Given the description of an element on the screen output the (x, y) to click on. 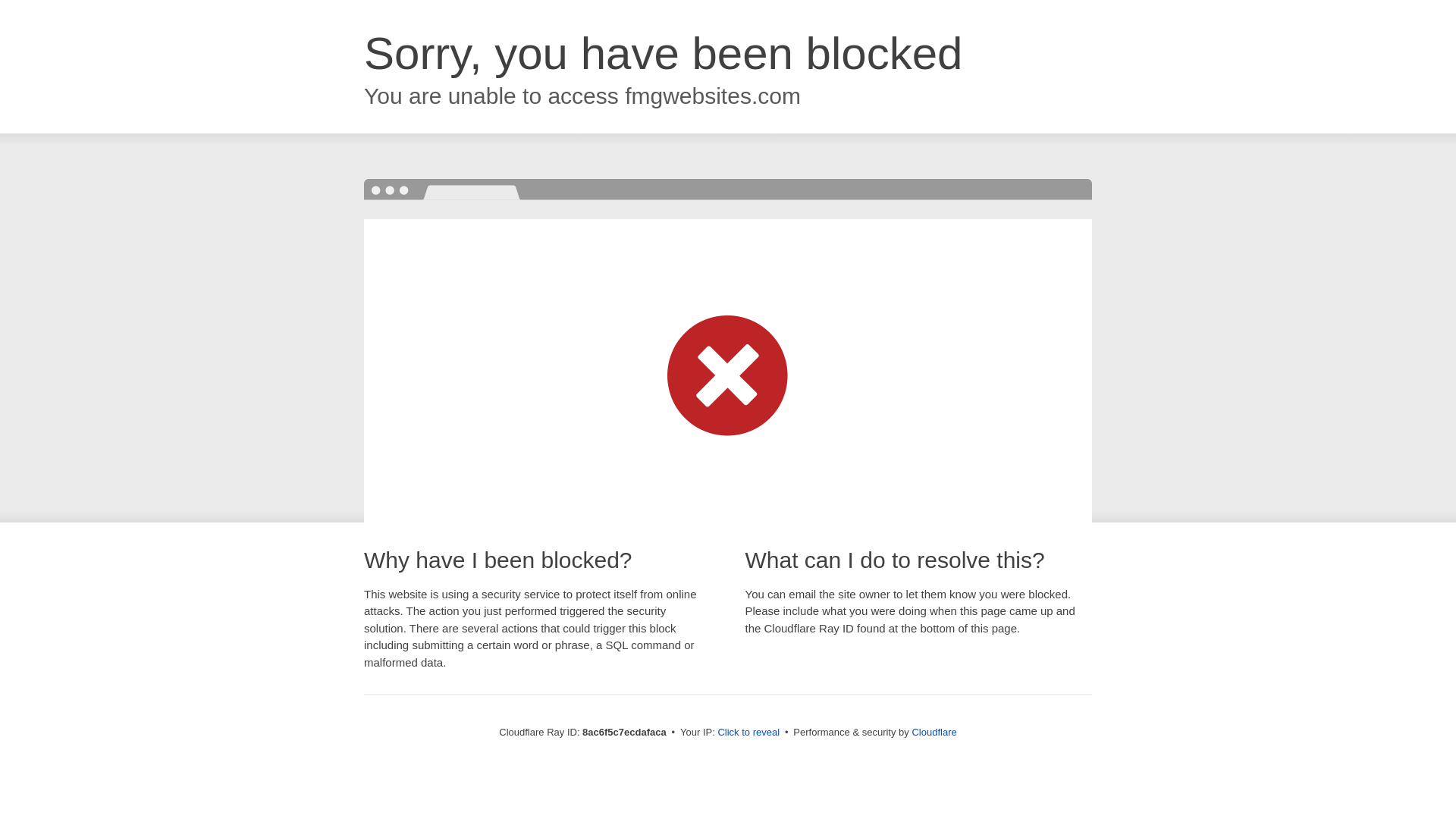
Click to reveal (747, 732)
Cloudflare (933, 731)
